Given the description of an element on the screen output the (x, y) to click on. 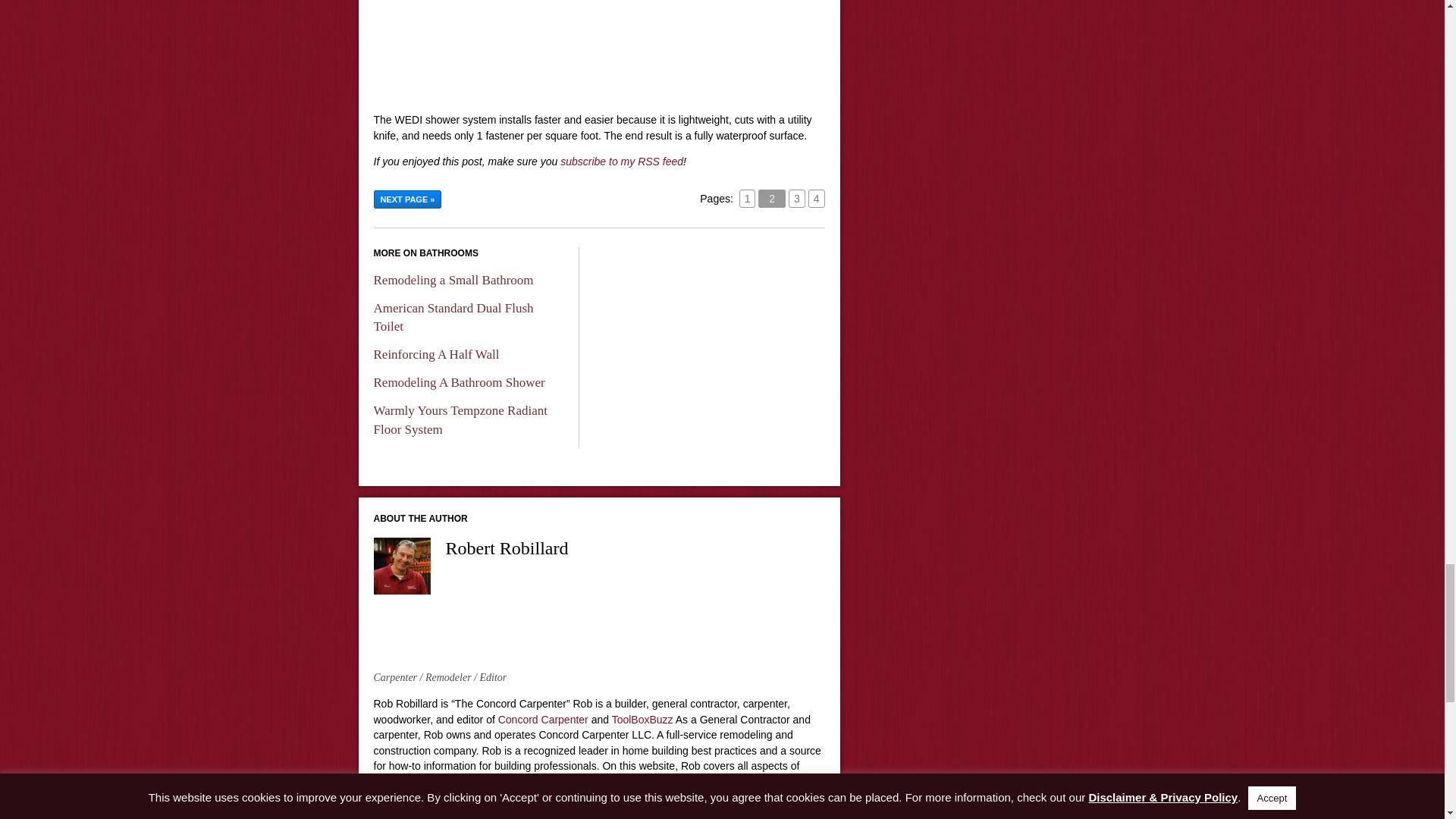
ToolBoxBuzz (641, 719)
Concord Carpenter (542, 719)
Reinforcing A Half Wall (435, 354)
subscribe to my RSS feed (621, 161)
Remodeling a Small Bathroom (452, 279)
1 (747, 198)
Advertisement (598, 50)
3 (797, 198)
Remodeling A Bathroom Shower (458, 382)
Concord Carpenter Videos (435, 811)
4 (816, 198)
Warmly Yours Tempzone Radiant Floor System (459, 419)
American Standard Dual Flush Toilet (452, 317)
